Given the description of an element on the screen output the (x, y) to click on. 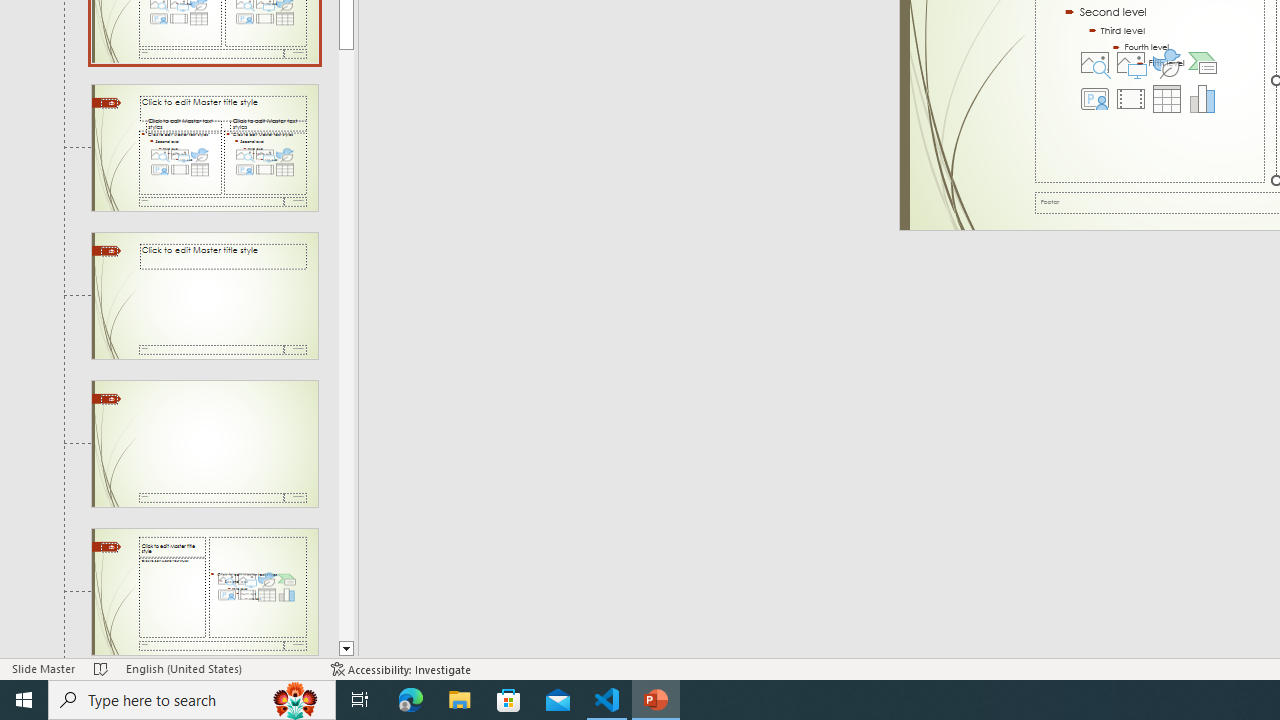
Insert a SmartArt Graphic (1202, 62)
Slide Comparison Layout: used by no slides (204, 296)
Insert Video (1130, 98)
Insert Chart (1202, 98)
Insert an Icon (1166, 62)
Insert Table (1166, 98)
Slide Title Only Layout: used by no slides (204, 443)
Insert Cameo (1095, 98)
Slide Two Content Layout: used by no slides (204, 147)
Stock Images (1095, 62)
